Given the description of an element on the screen output the (x, y) to click on. 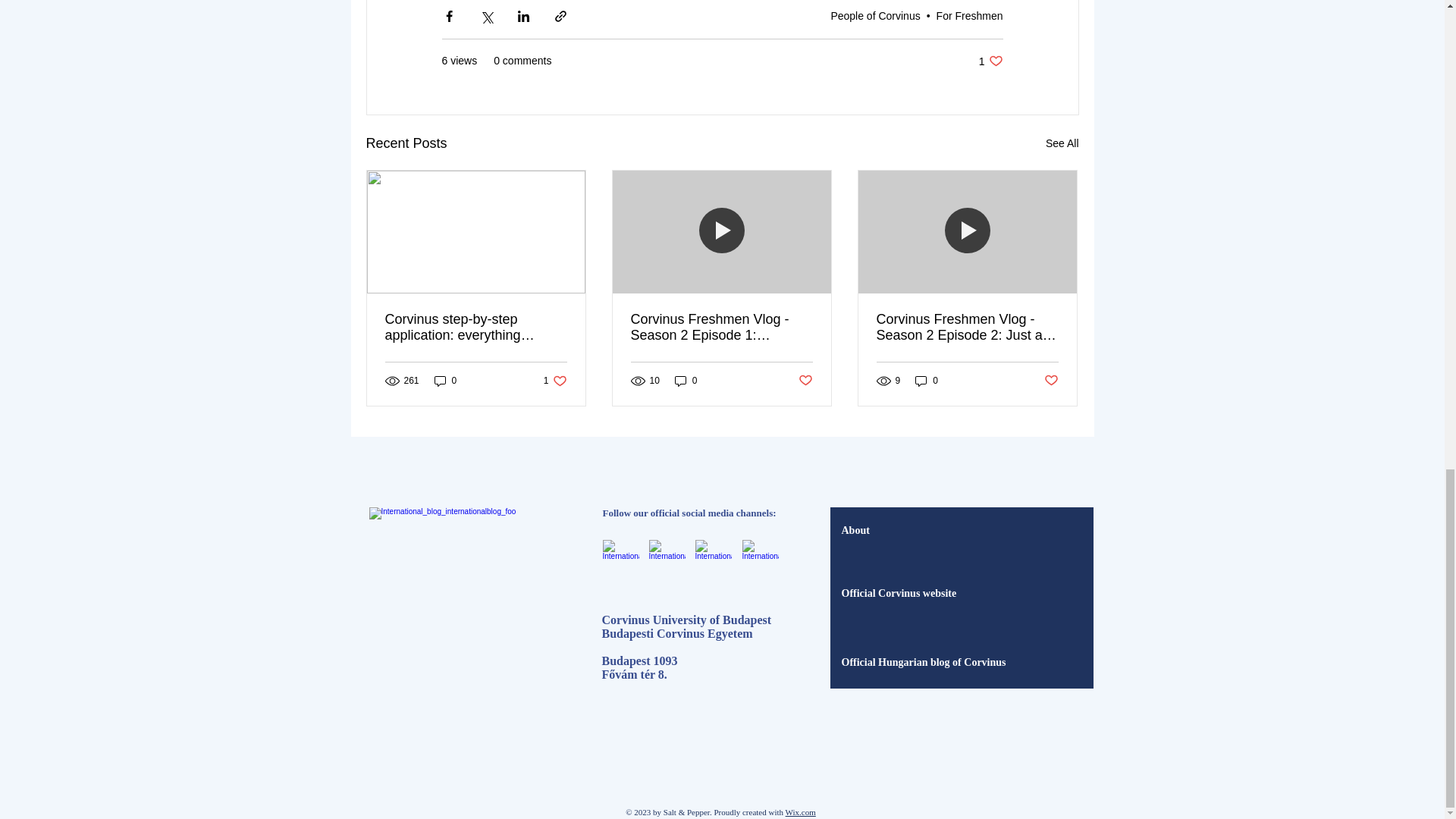
See All (1061, 143)
People of Corvinus (874, 15)
Post not marked as liked (990, 60)
0 (804, 381)
0 (685, 380)
Post not marked as liked (445, 380)
0 (1050, 381)
